Given the description of an element on the screen output the (x, y) to click on. 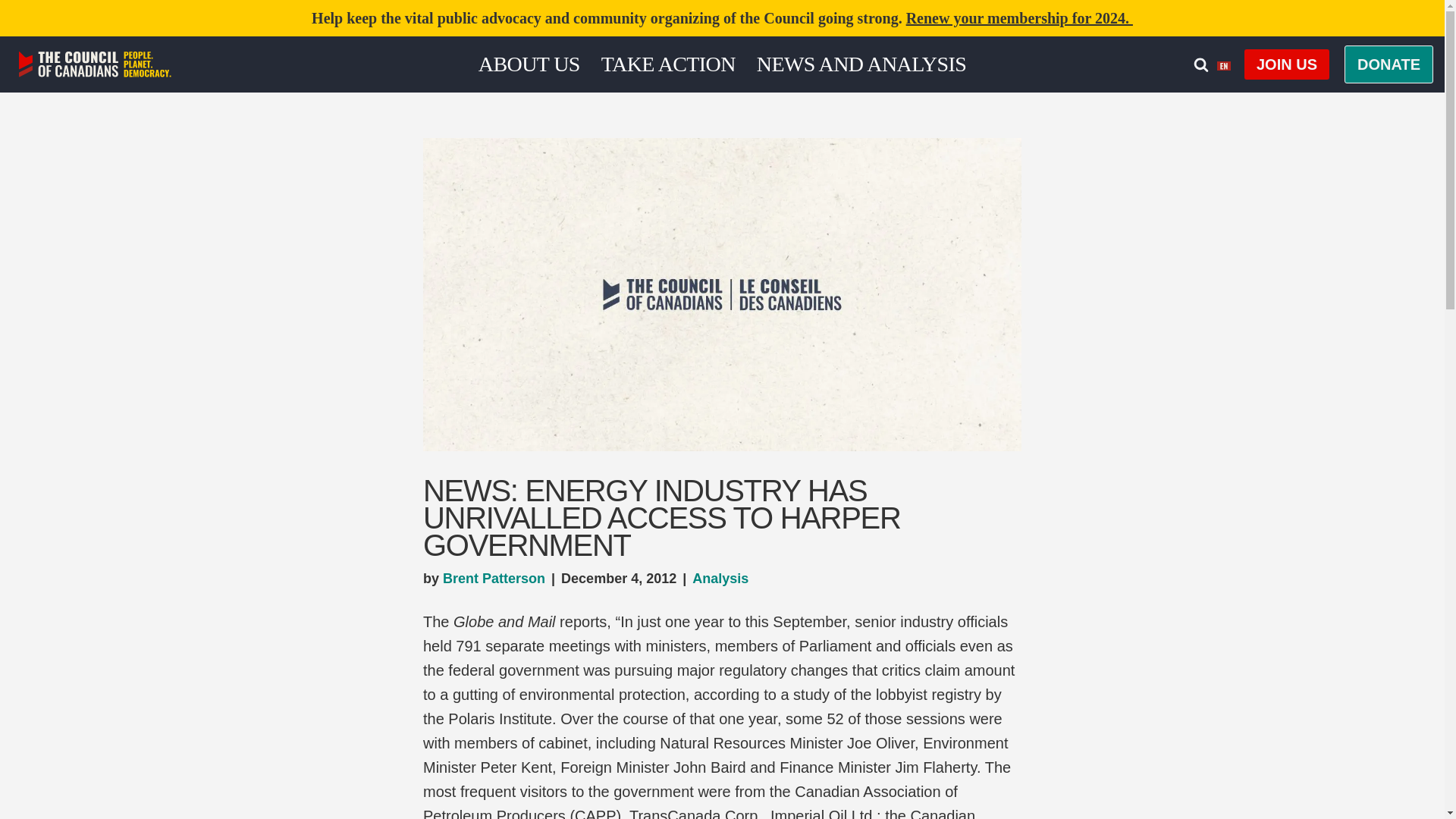
TAKE ACTION (668, 63)
NEWS AND ANALYSIS (861, 63)
Analysis (720, 578)
Brent Patterson (493, 578)
Posts by Brent Patterson (493, 578)
Renew your membership for 2024.  (1018, 17)
ABOUT US (529, 63)
Skip to content (11, 31)
JOIN US (1286, 64)
DONATE (1387, 64)
